Given the description of an element on the screen output the (x, y) to click on. 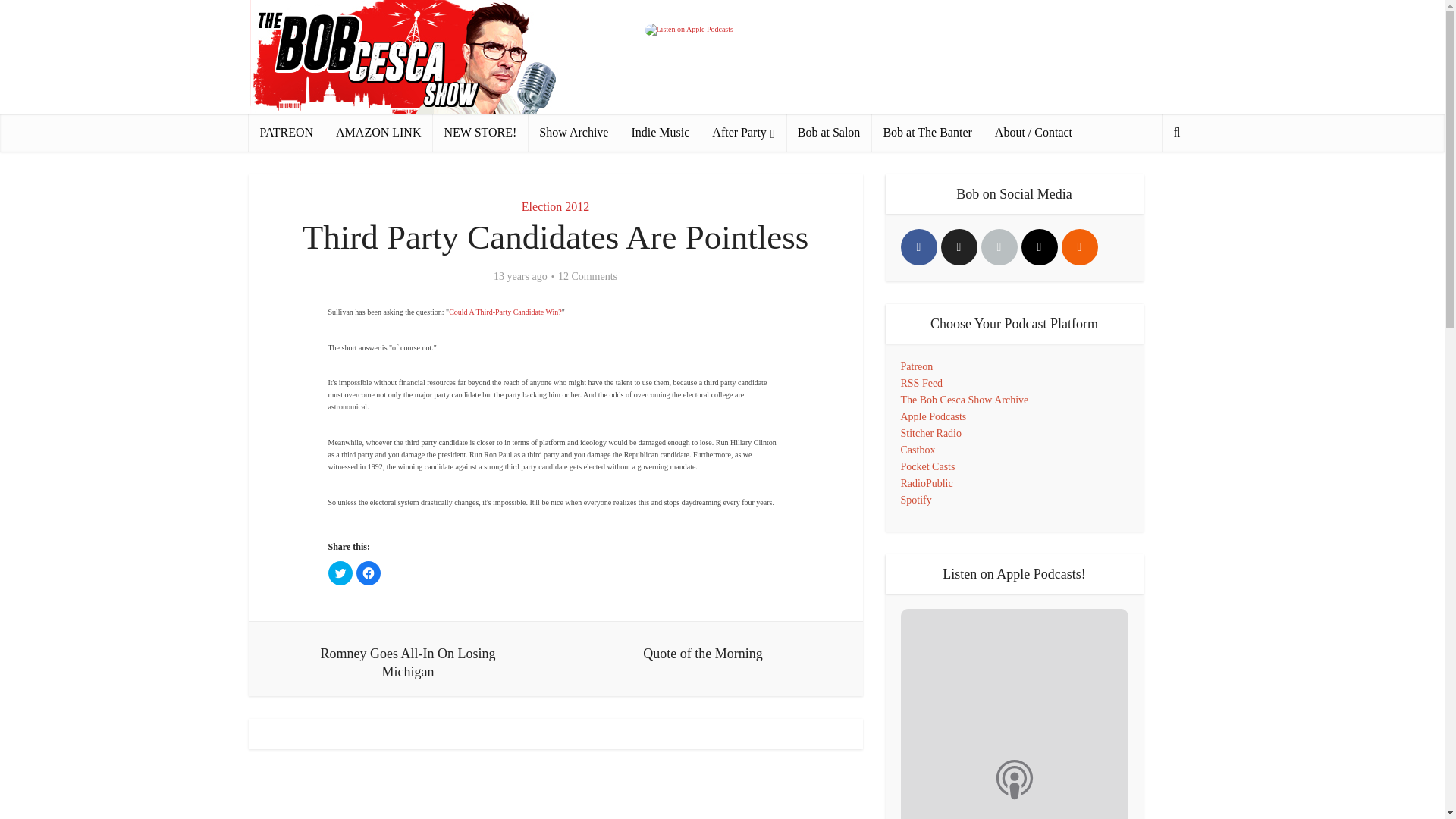
AMAZON LINK (378, 132)
NEW STORE! (479, 132)
Indie Music (660, 132)
twitter (958, 247)
Spotify (916, 500)
RadioPublic (927, 482)
Quote of the Morning (702, 649)
Bob at The Banter (926, 132)
The Bob Cesca Show Archive (965, 399)
Apple (999, 247)
